Given the description of an element on the screen output the (x, y) to click on. 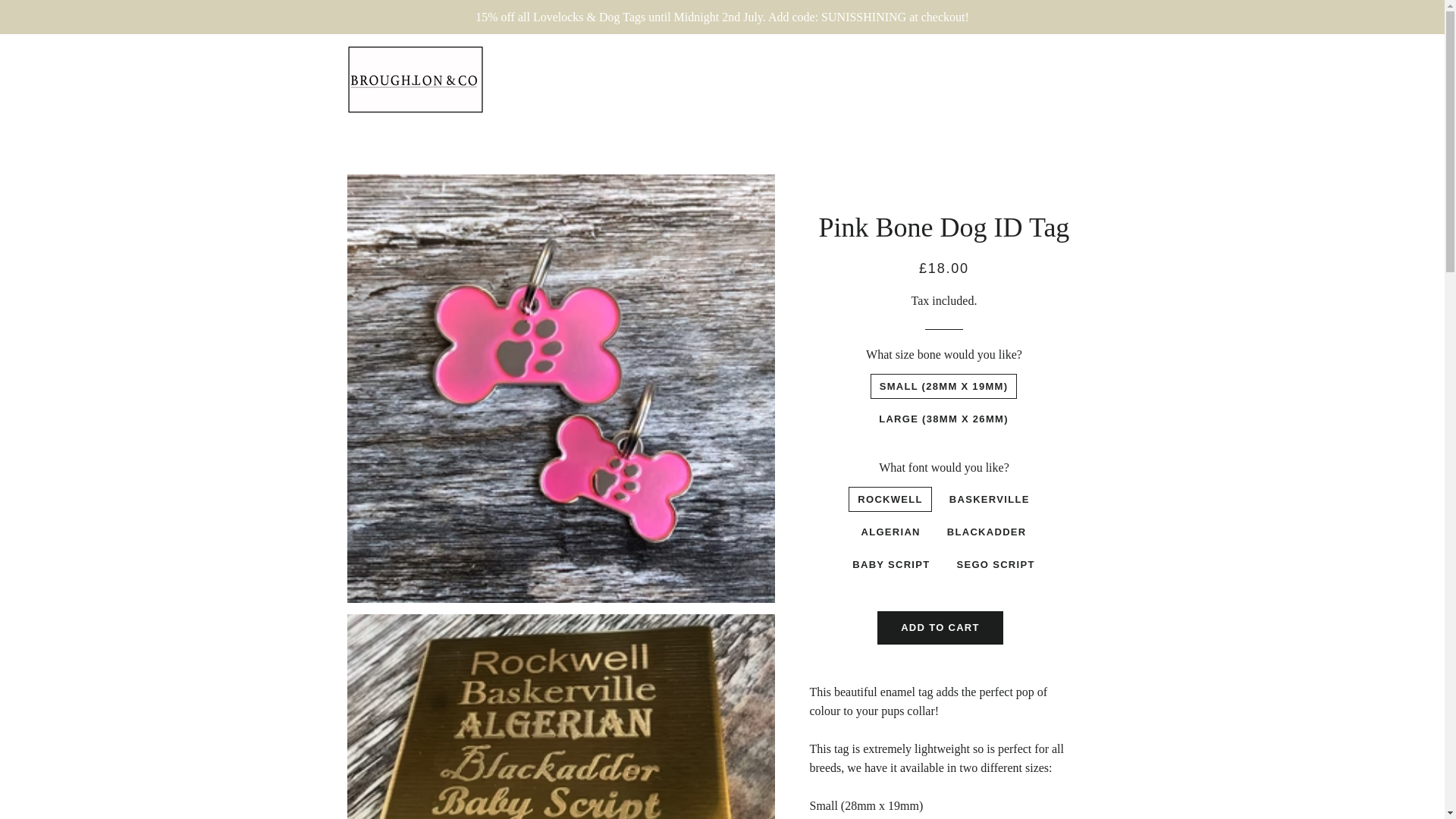
ADD TO CART (940, 627)
